Given the description of an element on the screen output the (x, y) to click on. 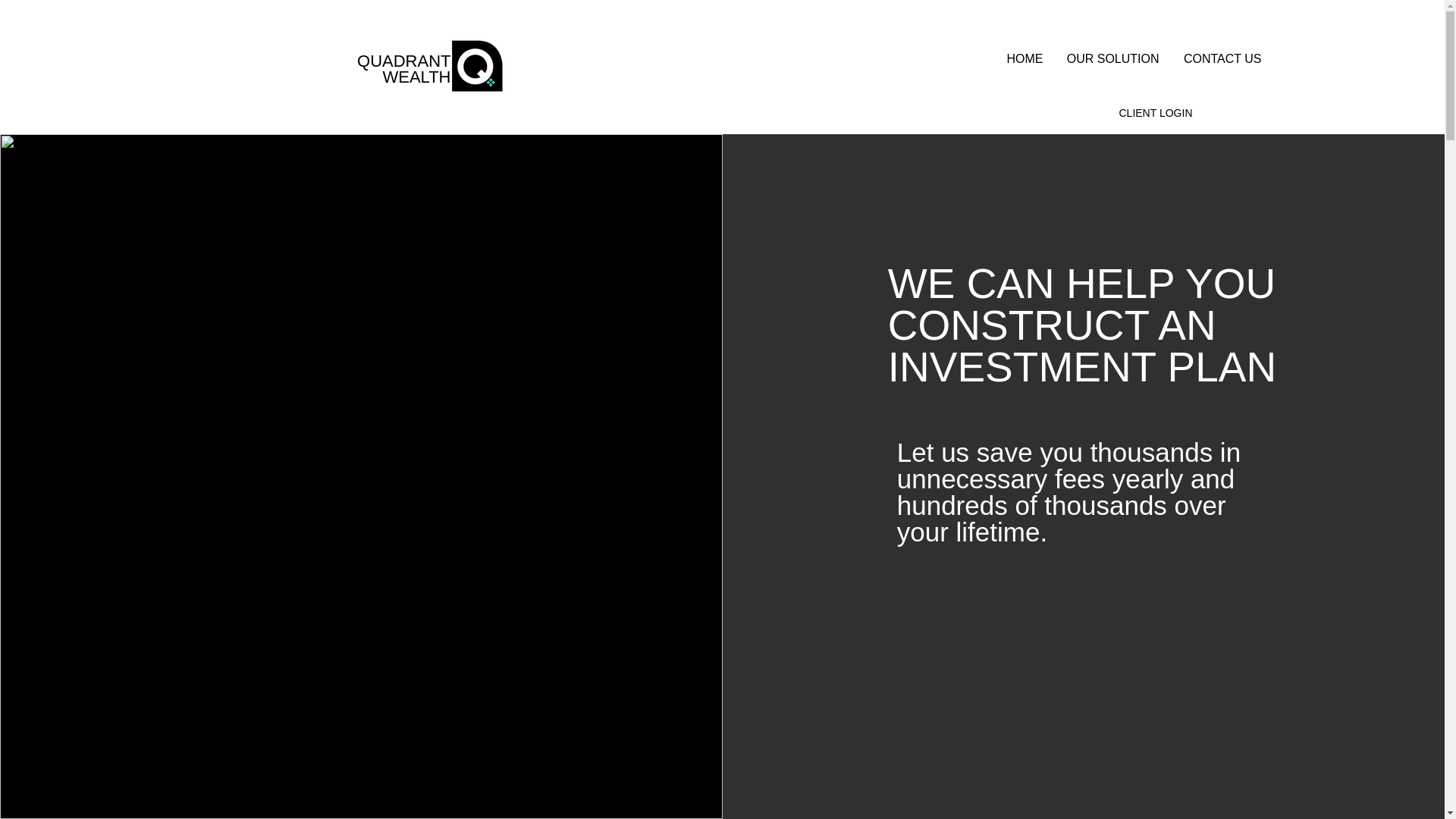
WEALTH (415, 76)
OUR SOLUTION (1112, 58)
CONTACT US (1221, 58)
CLIENT LOGIN (1156, 113)
QUADRANT (402, 60)
